Given the description of an element on the screen output the (x, y) to click on. 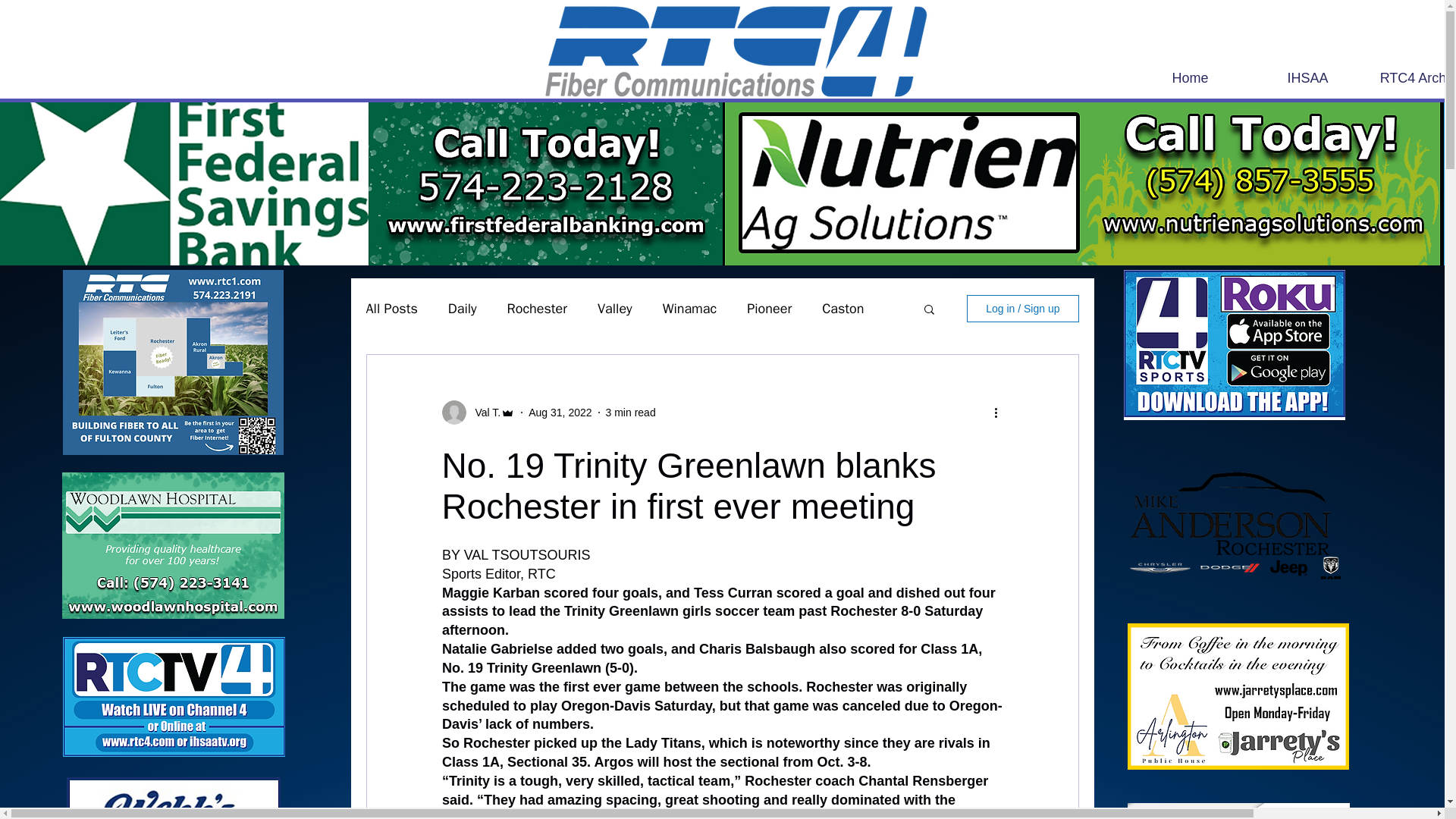
RTC4 Archives (1411, 77)
Pioneer (769, 308)
Daily (462, 308)
IHSAA (1308, 77)
Home (1190, 77)
Rochester (536, 308)
Valley (613, 308)
All Posts (390, 308)
Caston (842, 308)
Val T. (482, 412)
Winamac (689, 308)
3 min read (630, 412)
Aug 31, 2022 (559, 412)
